Given the description of an element on the screen output the (x, y) to click on. 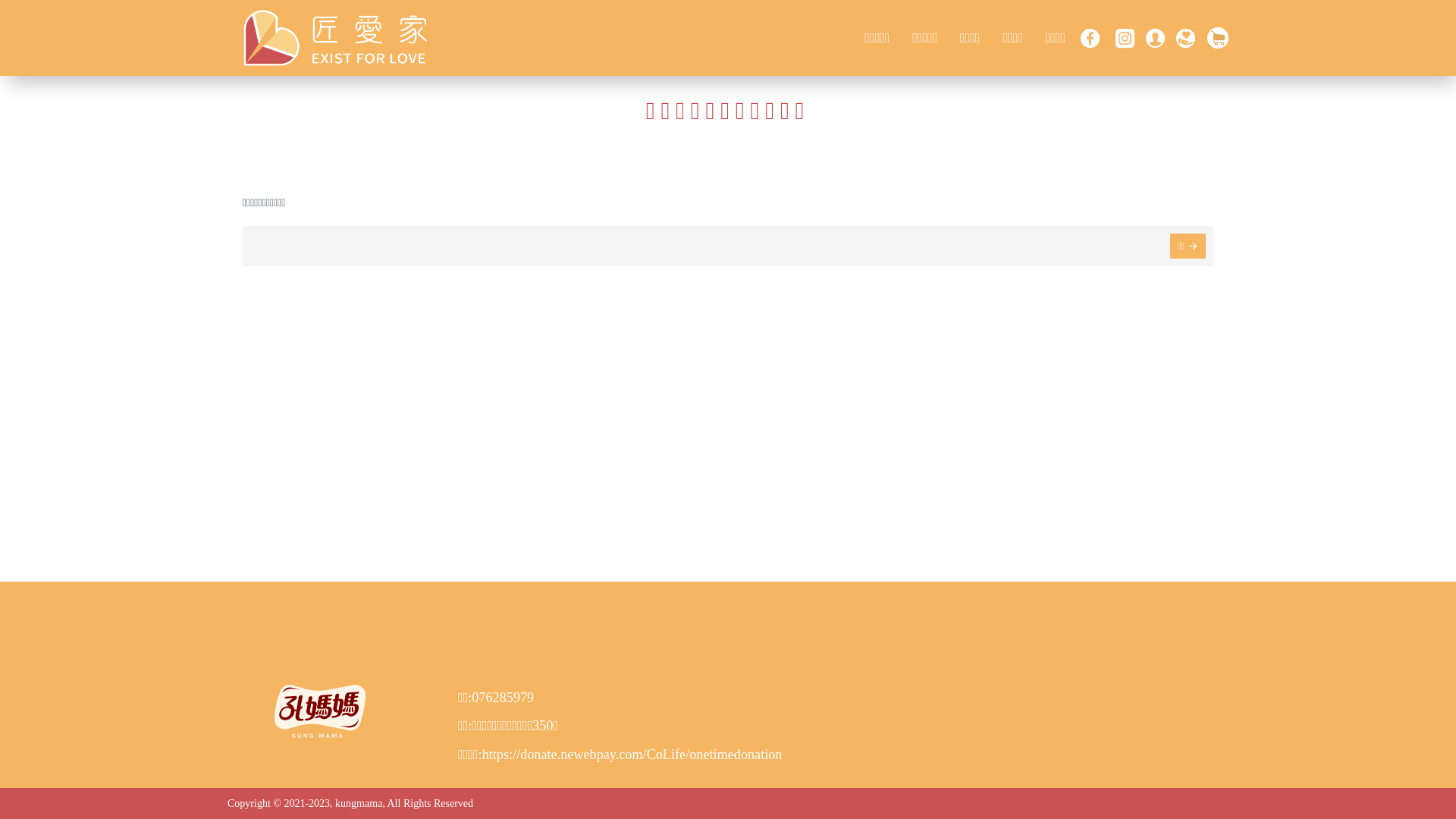
https://donate.newebpay.com/CoLife/onetimedonation Element type: text (632, 754)
